Given the description of an element on the screen output the (x, y) to click on. 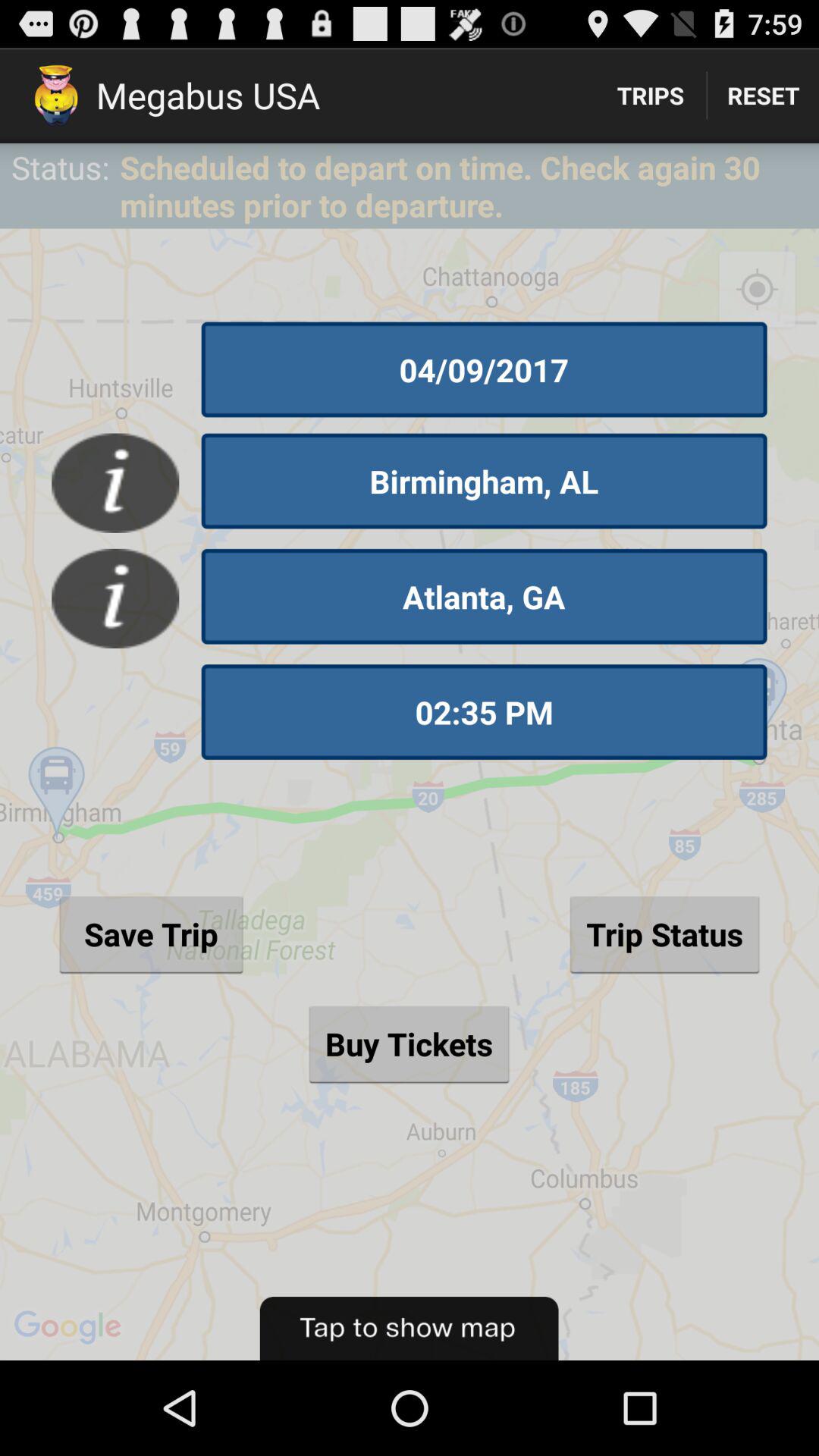
scroll to the reset (763, 95)
